Given the description of an element on the screen output the (x, y) to click on. 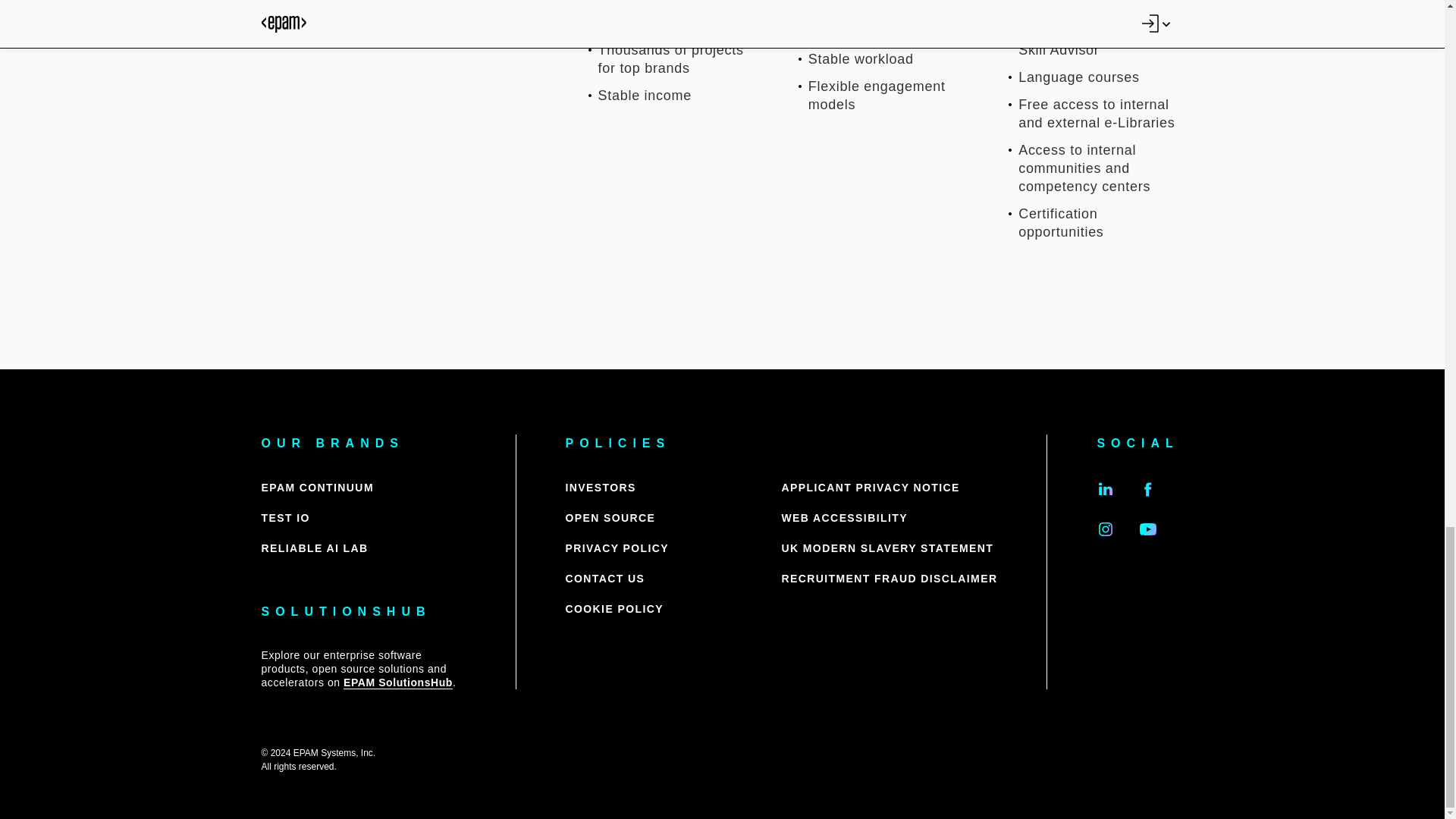
RELIABLE AI LAB (314, 548)
COOKIE POLICY (614, 608)
WEB ACCESSIBILITY (843, 518)
CONTACT US (605, 578)
TEST IO (284, 518)
EPAM CONTINUUM (316, 487)
UK MODERN SLAVERY STATEMENT (886, 548)
INVESTORS (601, 487)
EPAM SolutionsHub (397, 682)
RECRUITMENT FRAUD DISCLAIMER (888, 578)
